Given the description of an element on the screen output the (x, y) to click on. 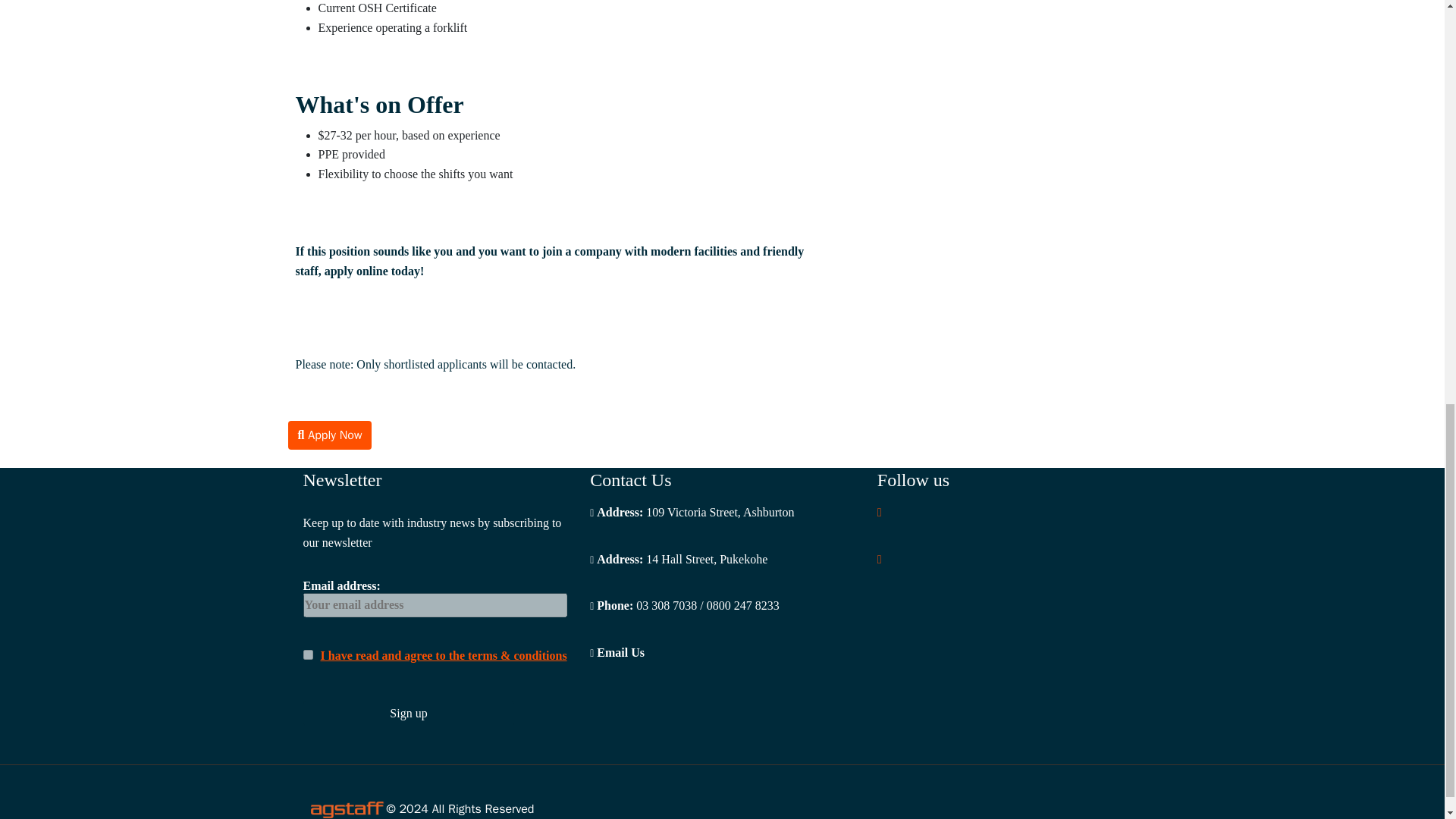
1 (307, 655)
Apply Now (330, 434)
Sign up (408, 713)
Sign up (408, 713)
